Given the description of an element on the screen output the (x, y) to click on. 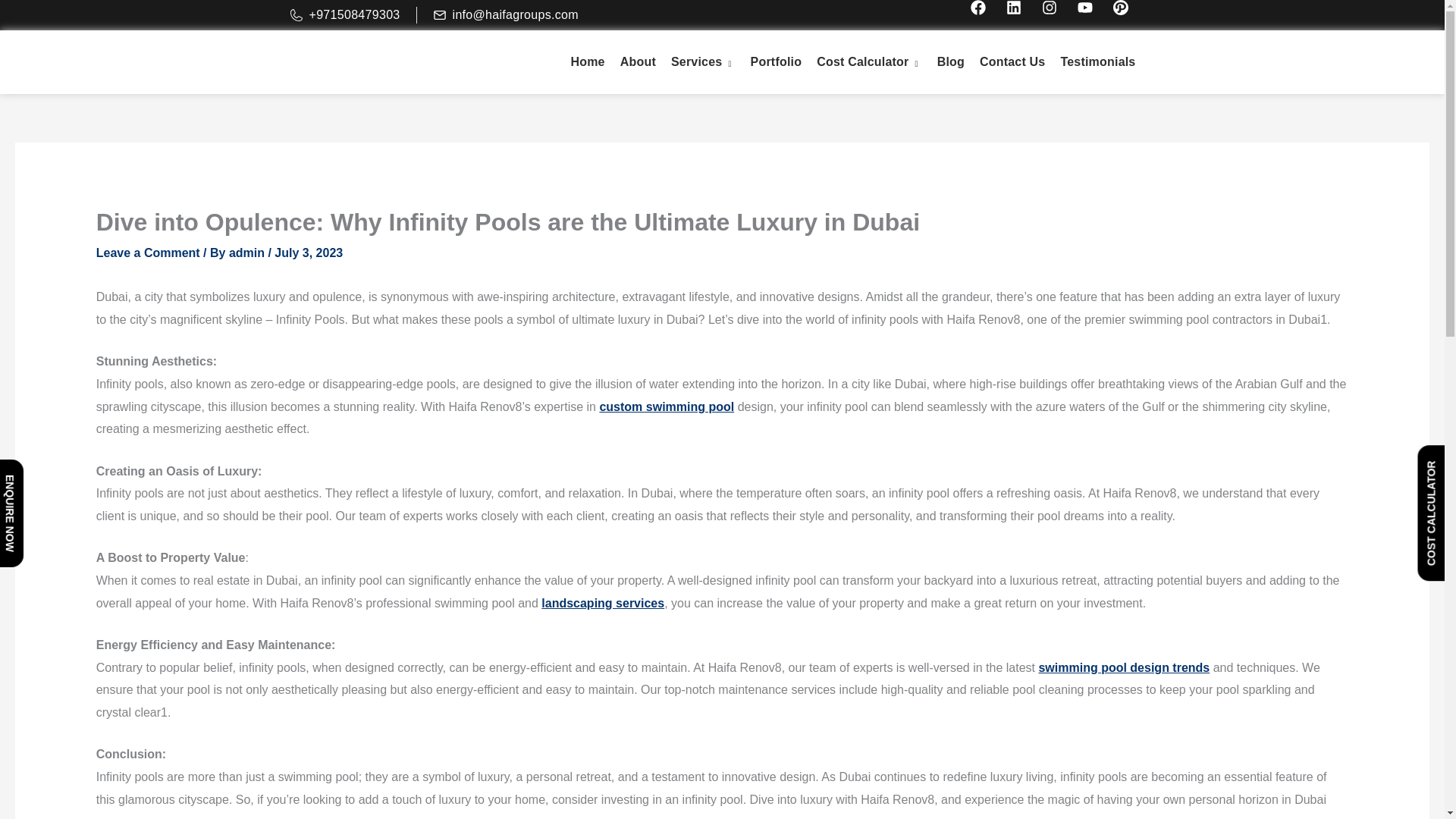
Cost Calculator (868, 62)
Services (702, 62)
About (637, 62)
Home (586, 62)
View all posts by admin (247, 252)
Portfolio (775, 62)
